Given the description of an element on the screen output the (x, y) to click on. 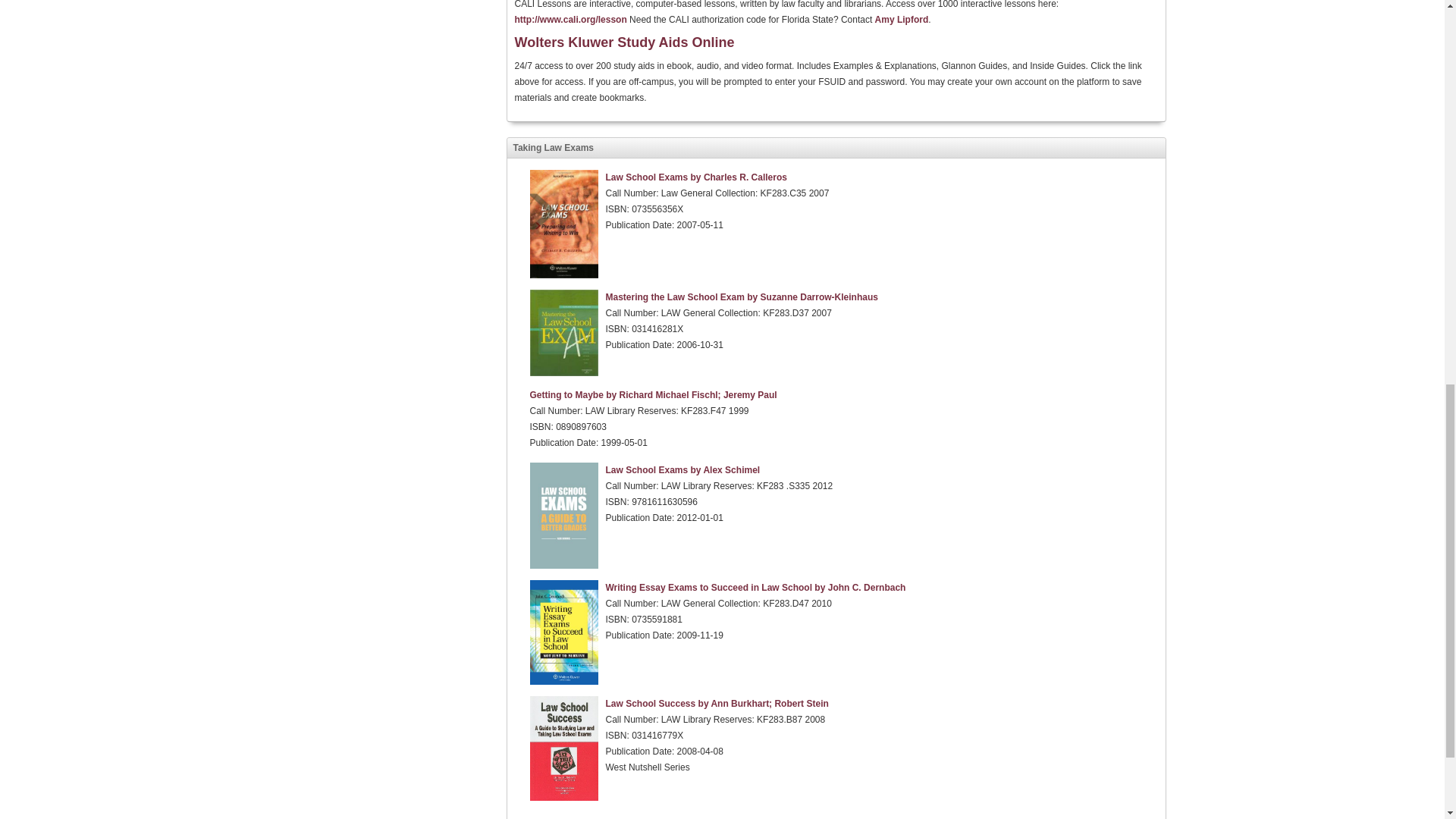
Wolters Kluwer Study Aids Online (623, 42)
Law School Exams by Alex Schimel (682, 470)
Law School Success by Ann Burkhart; Robert Stein (716, 703)
Getting to Maybe by Richard Michael Fischl; Jeremy Paul (652, 394)
Mastering the Law School Exam by Suzanne Darrow-Kleinhaus (741, 296)
Amy Lipford (901, 19)
Law School Exams by Charles R. Calleros (695, 176)
